Given the description of an element on the screen output the (x, y) to click on. 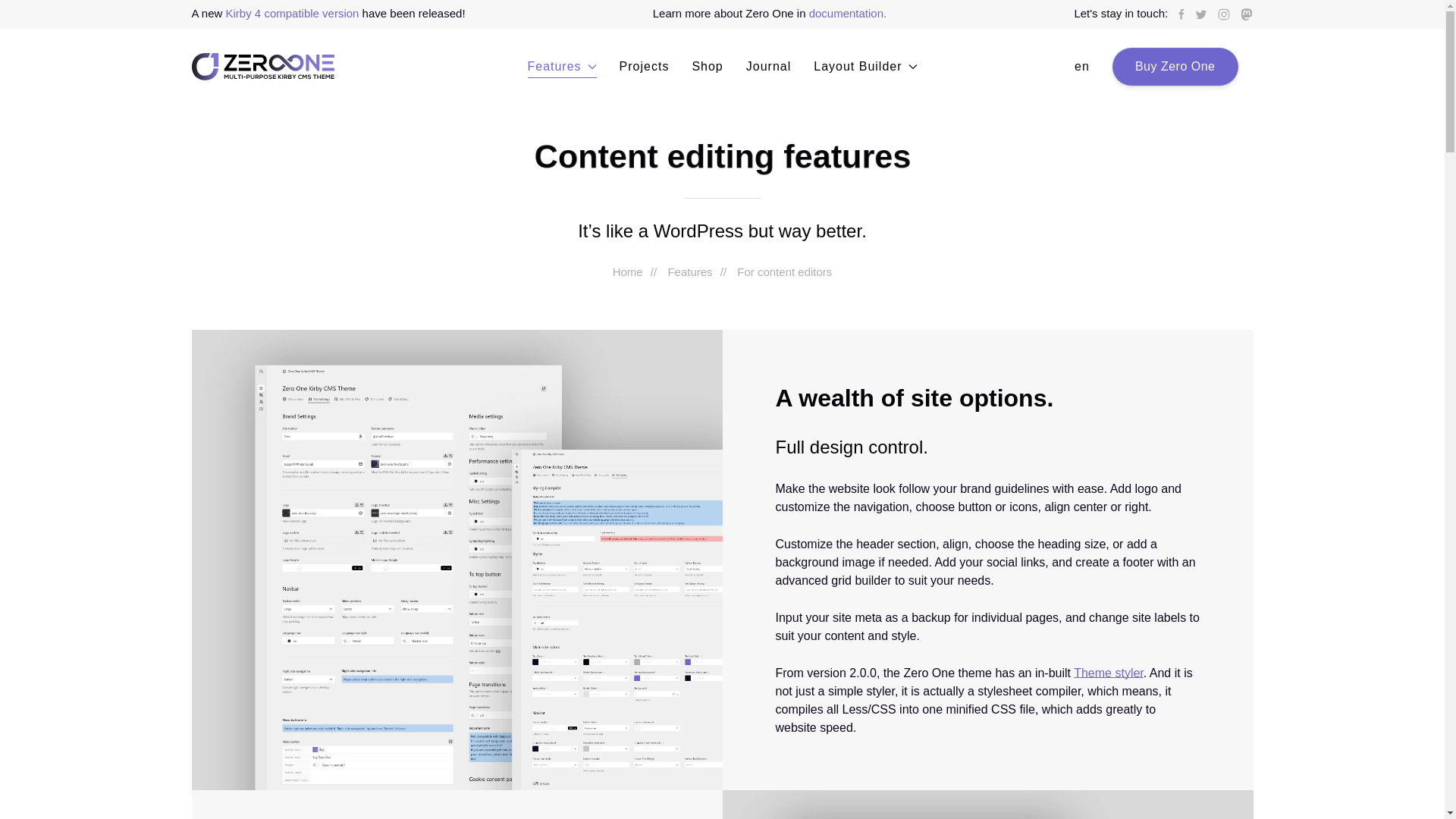
Projects (644, 66)
Theme styler (1108, 672)
Layout Builder (865, 66)
documentation. (847, 12)
Kirby 4 compatible version (292, 12)
For content editors (783, 271)
Home (627, 271)
Journal (768, 66)
Buy Zero One (1175, 66)
Features (561, 66)
Features (688, 271)
